Given the description of an element on the screen output the (x, y) to click on. 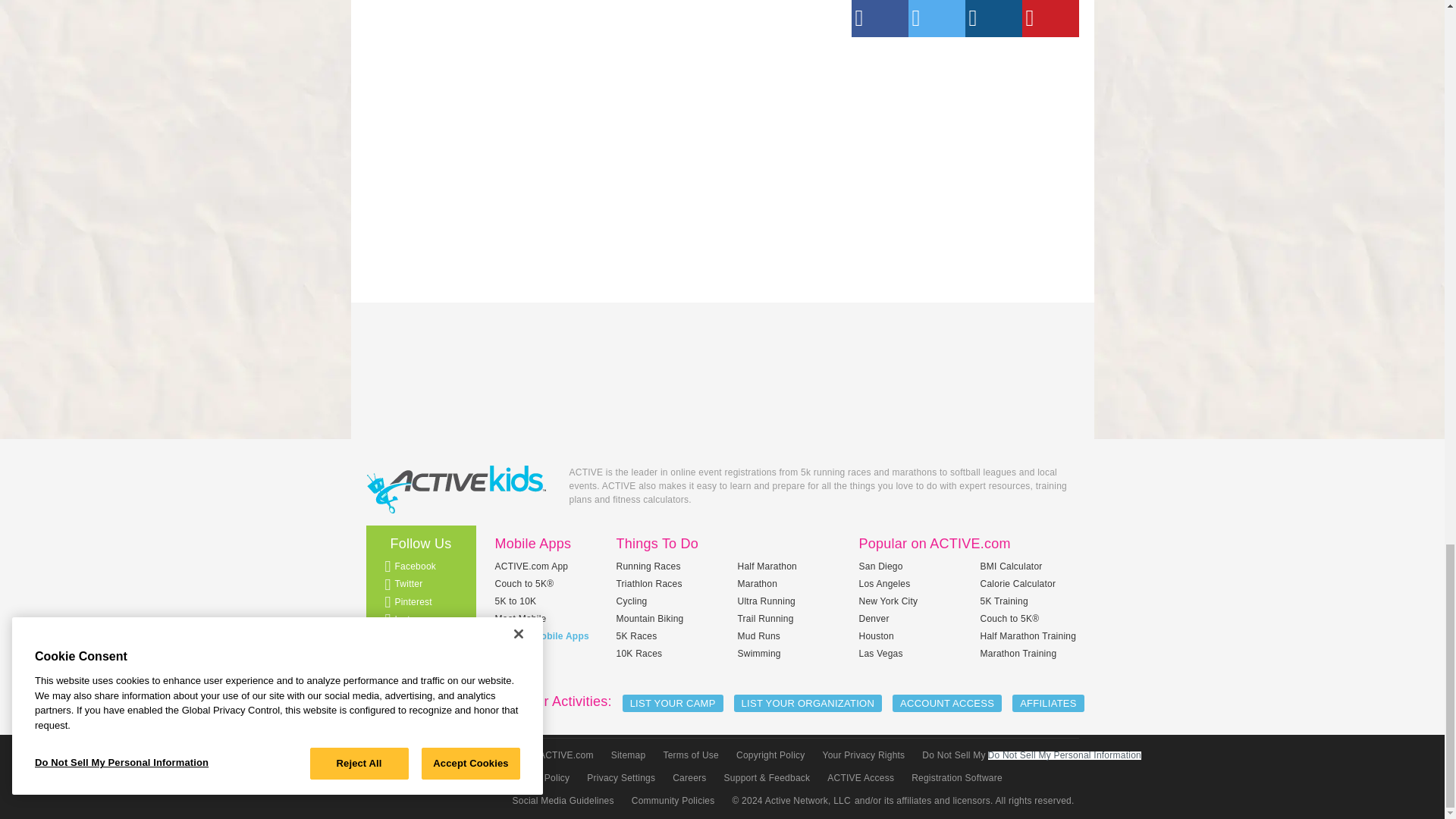
3rd party ad content (964, 162)
Terms of Use (689, 754)
Do Not Sell My Personal Information (997, 754)
Your Privacy Rights: Updated (862, 754)
3rd party ad content (721, 359)
Copyright Policy (769, 754)
